Given the description of an element on the screen output the (x, y) to click on. 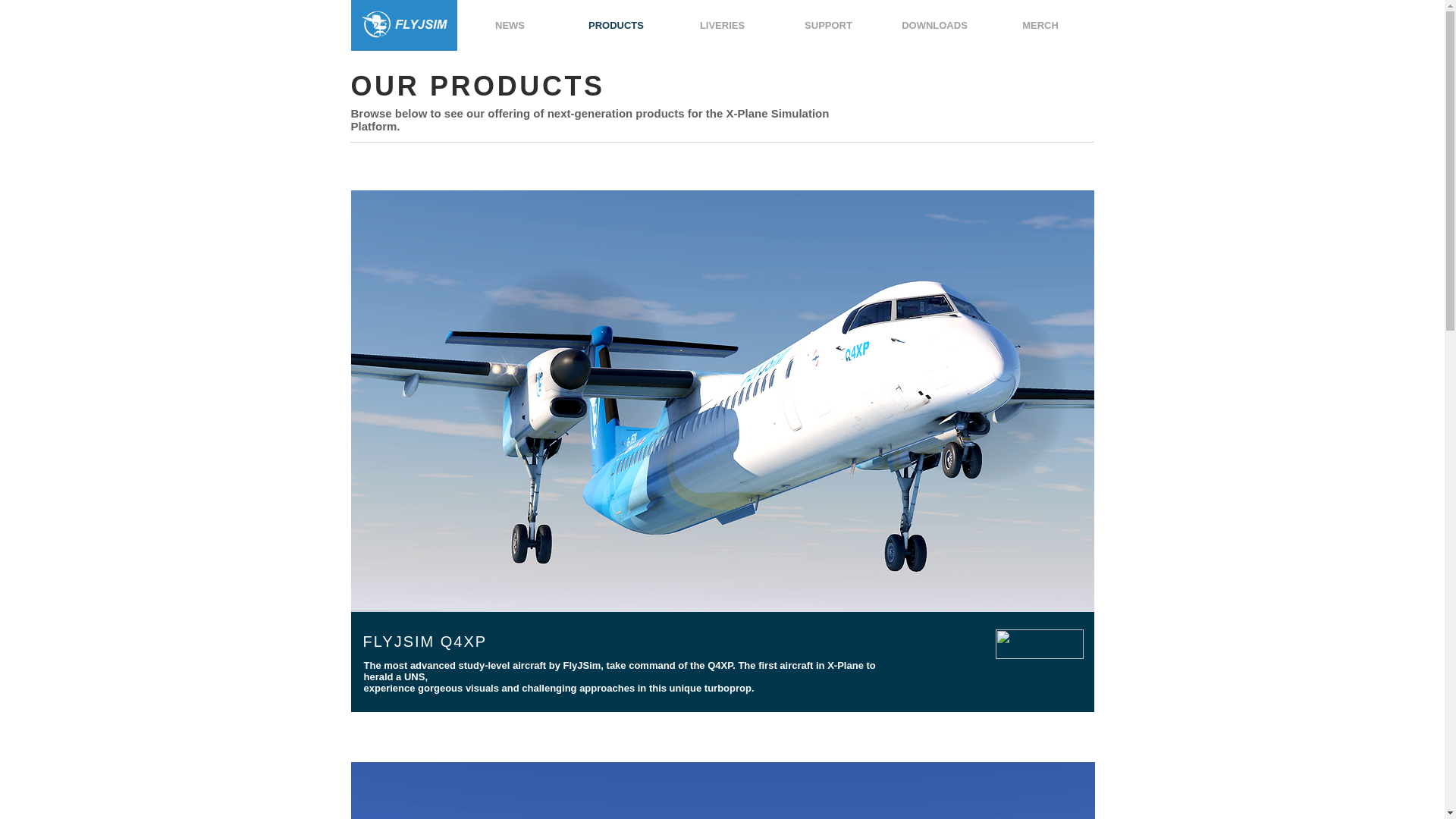
LIVERIES (721, 25)
DOWNLOADS (933, 25)
NEWS (509, 25)
MERCH (1040, 25)
SUPPORT (827, 25)
PRODUCTS (615, 25)
